Given the description of an element on the screen output the (x, y) to click on. 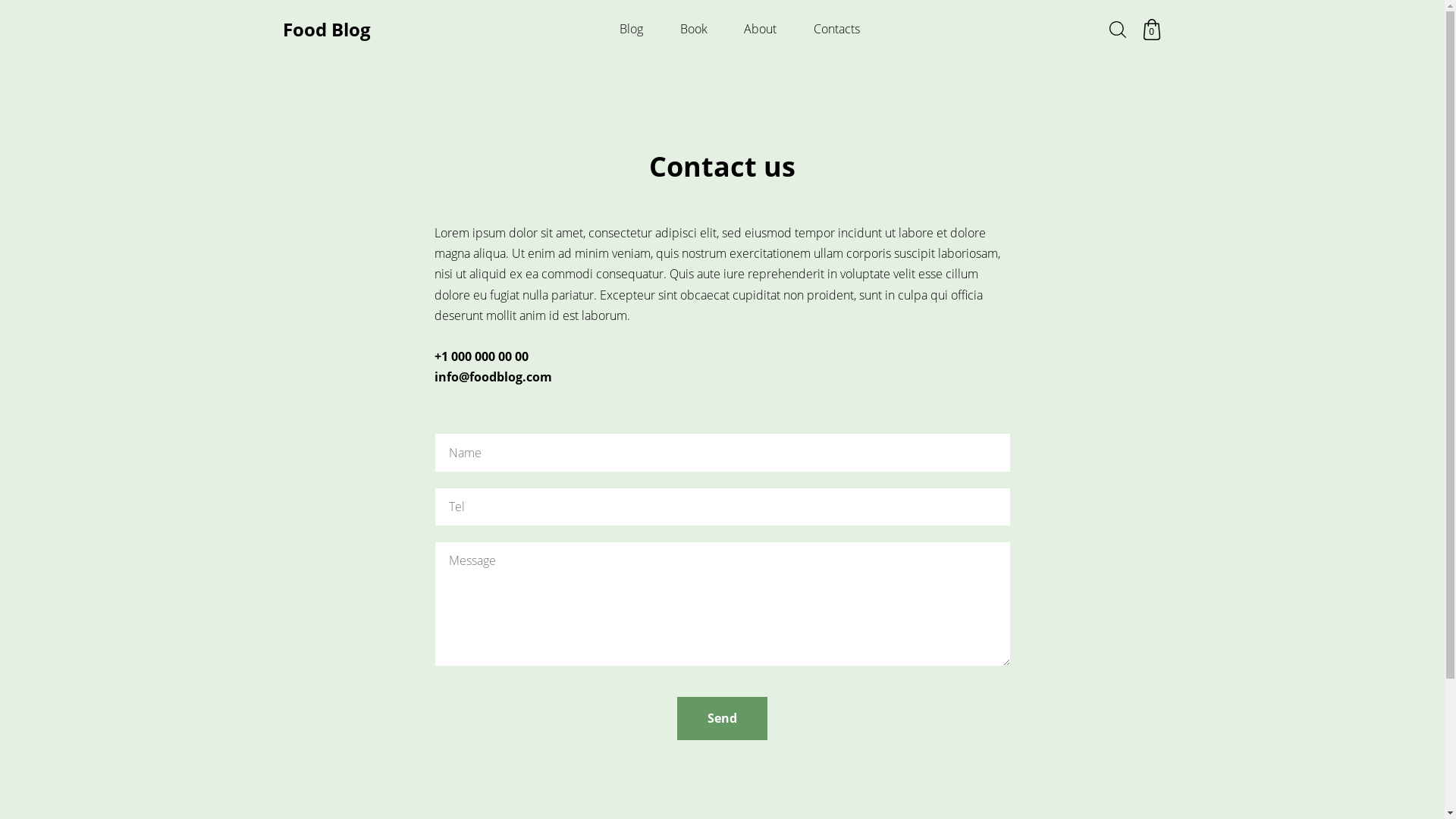
Search Element type: hover (1116, 29)
Blog Element type: text (631, 29)
Book Element type: text (693, 29)
About Element type: text (759, 29)
Contacts Element type: text (836, 29)
Send Element type: text (722, 718)
0 Element type: text (1150, 29)
Food Blog Element type: text (326, 29)
